Given the description of an element on the screen output the (x, y) to click on. 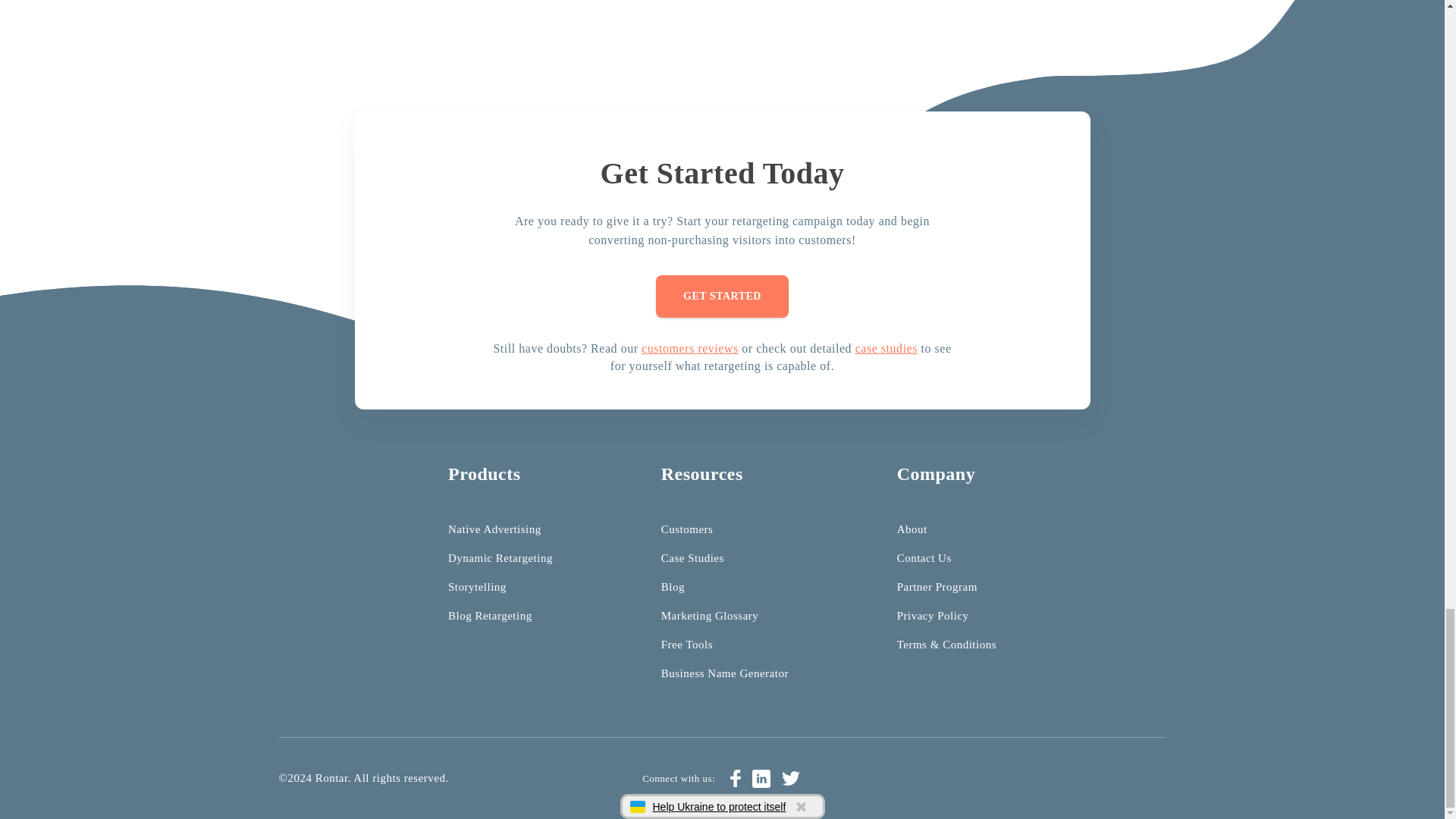
Case Studies (692, 558)
Free Tools (687, 644)
Marketing Glossary (709, 615)
Storytelling (477, 586)
case studies (886, 348)
Blog (672, 586)
customers reviews (690, 348)
Dynamic Retargeting (500, 558)
Blog Retargeting (490, 615)
Business Name Generator (725, 673)
About (911, 529)
Customers (687, 529)
Native Advertising (494, 529)
Contact Us (924, 558)
GET STARTED (722, 296)
